Given the description of an element on the screen output the (x, y) to click on. 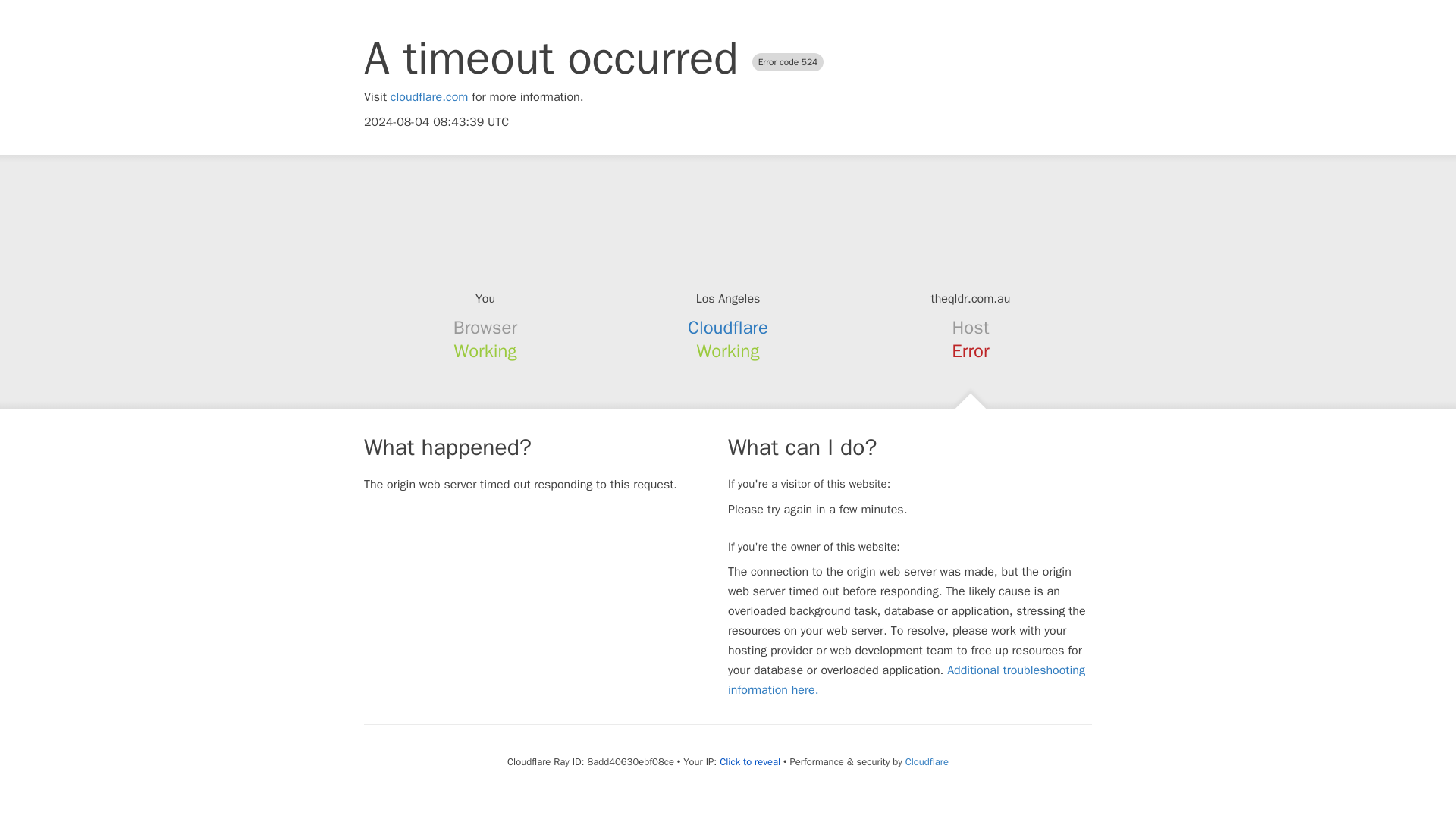
Cloudflare (927, 761)
cloudflare.com (429, 96)
Cloudflare (727, 327)
Additional troubleshooting information here. (906, 679)
Click to reveal (749, 762)
